Given the description of an element on the screen output the (x, y) to click on. 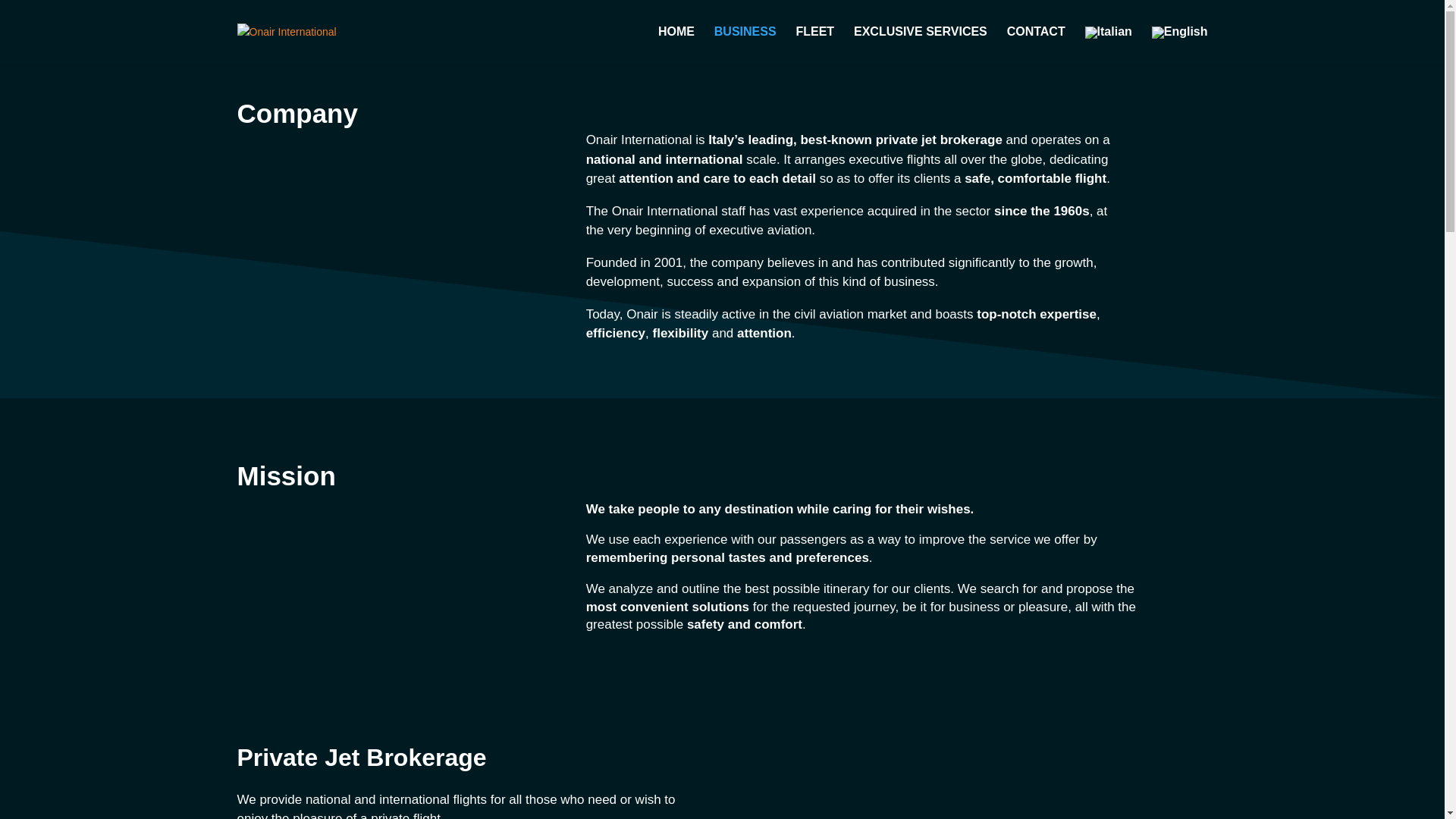
EXCLUSIVE SERVICES (920, 44)
CONTACT (1036, 44)
HOME (676, 44)
BUSINESS (745, 44)
FLEET (814, 44)
